Given the description of an element on the screen output the (x, y) to click on. 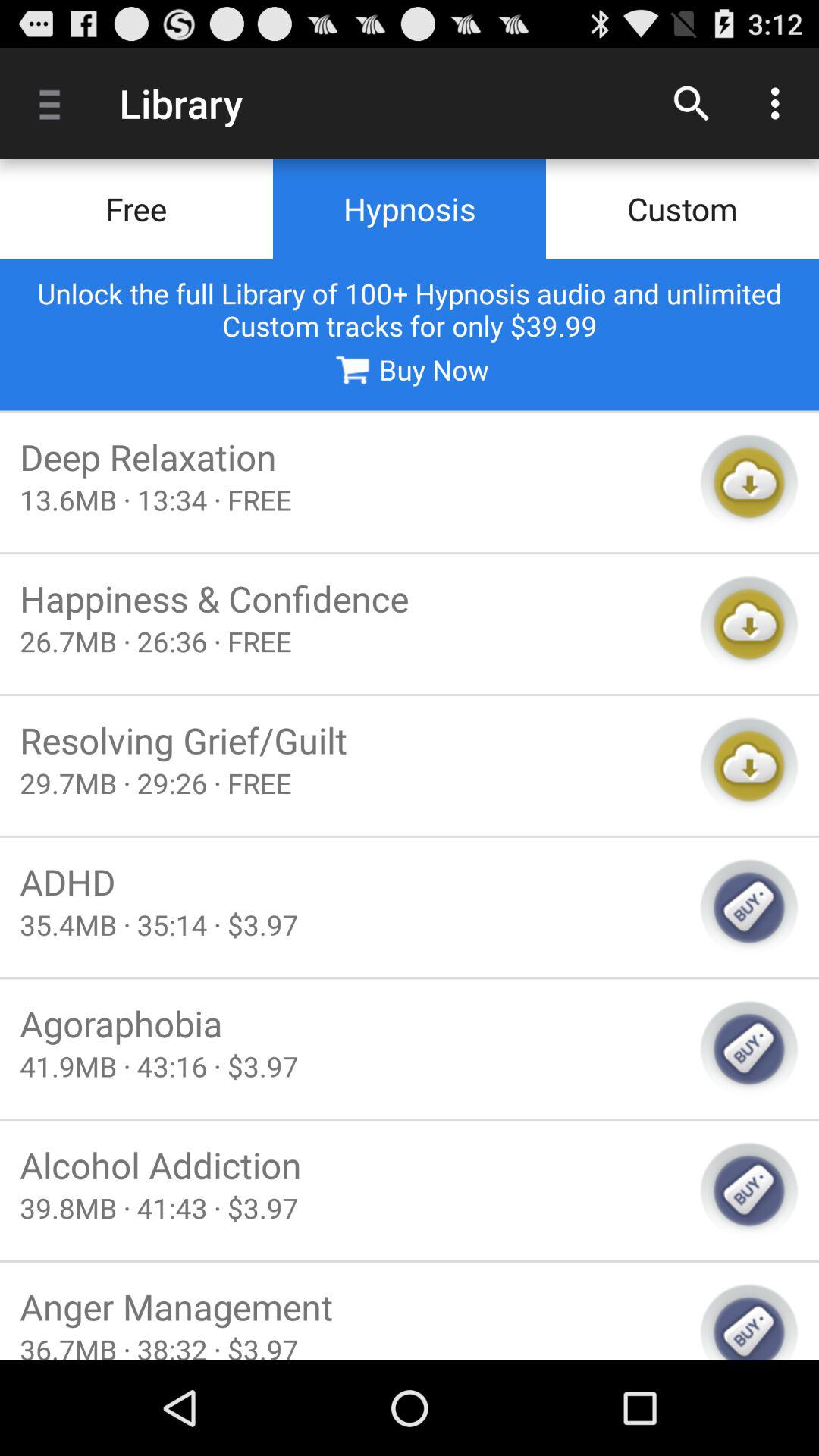
launch item above the happiness & confidence item (349, 499)
